Given the description of an element on the screen output the (x, y) to click on. 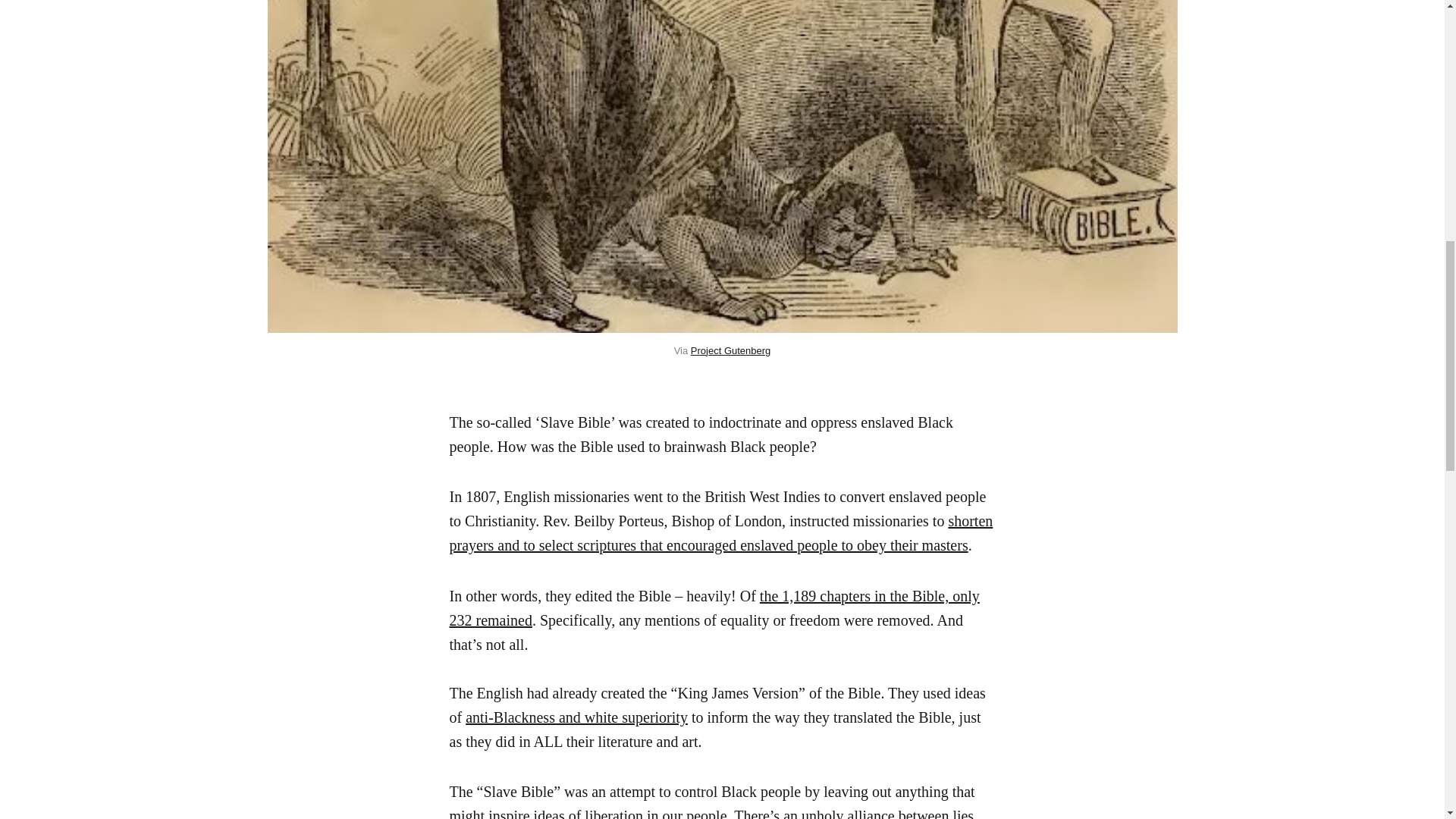
anti-Blackness and white superiority (576, 717)
Project Gutenberg (730, 349)
the 1,189 chapters in the Bible, only 232 remained (713, 608)
